Given the description of an element on the screen output the (x, y) to click on. 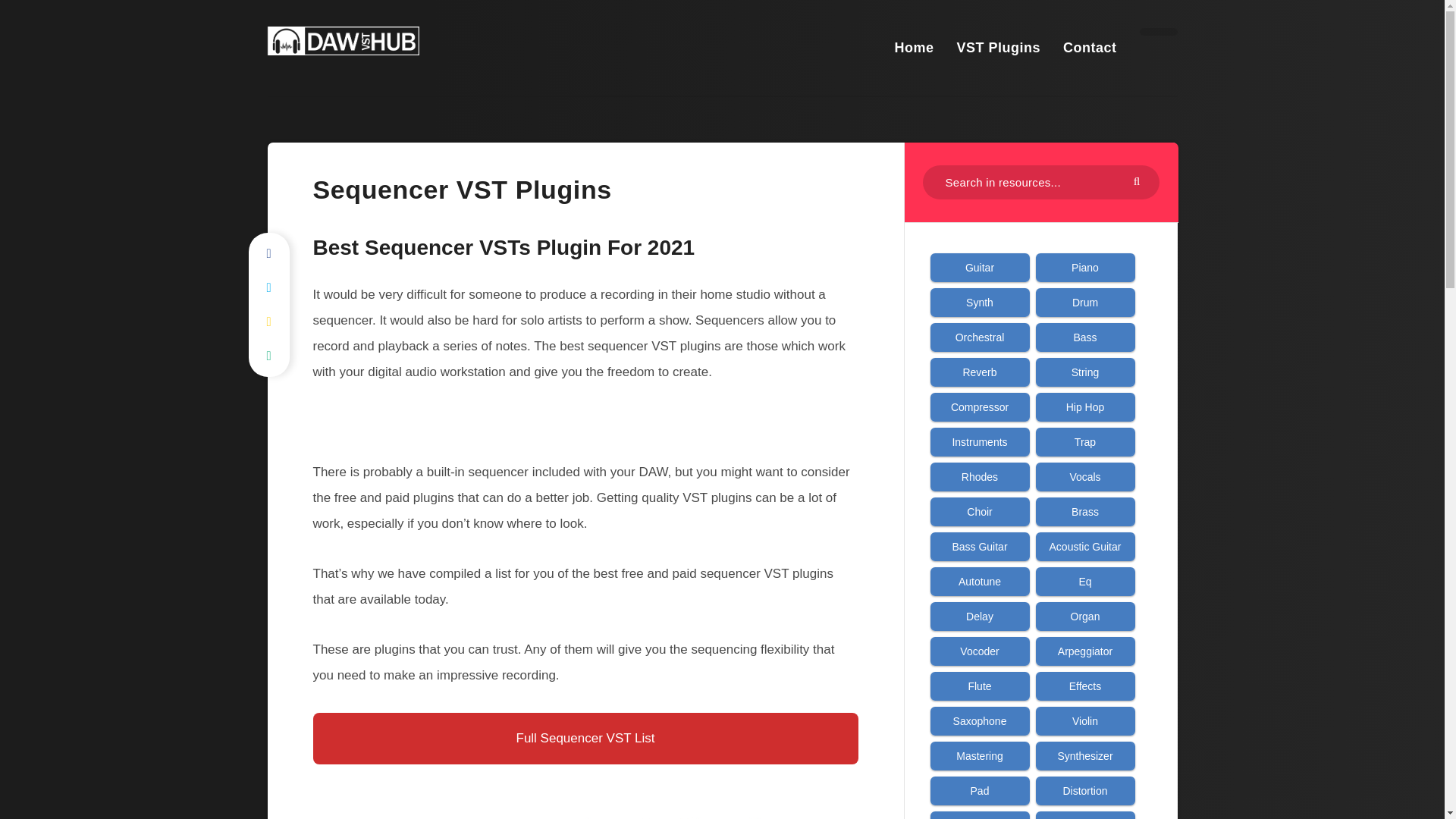
Best Bass VST List (1085, 337)
Reverb (979, 371)
Orchestral (979, 337)
Best String VST List (1085, 371)
Best Compressor VST List (979, 406)
Hip Hop (1085, 406)
Brass (1085, 511)
Drum (1085, 302)
String (1085, 371)
Best Trap VST List (1085, 442)
